Given the description of an element on the screen output the (x, y) to click on. 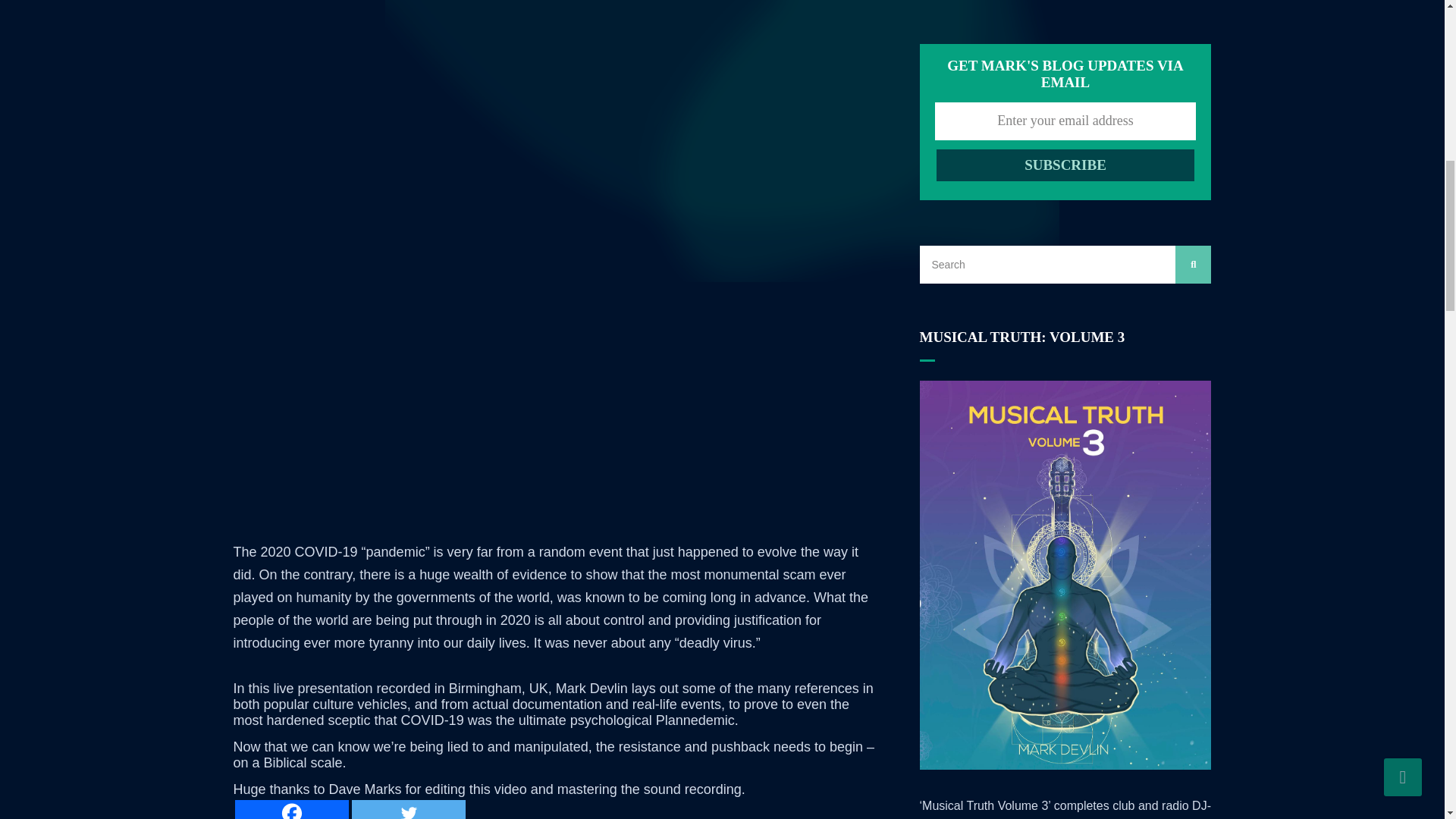
Twitter (408, 809)
Facebook (291, 809)
SUBSCRIBE (1064, 165)
